Given the description of an element on the screen output the (x, y) to click on. 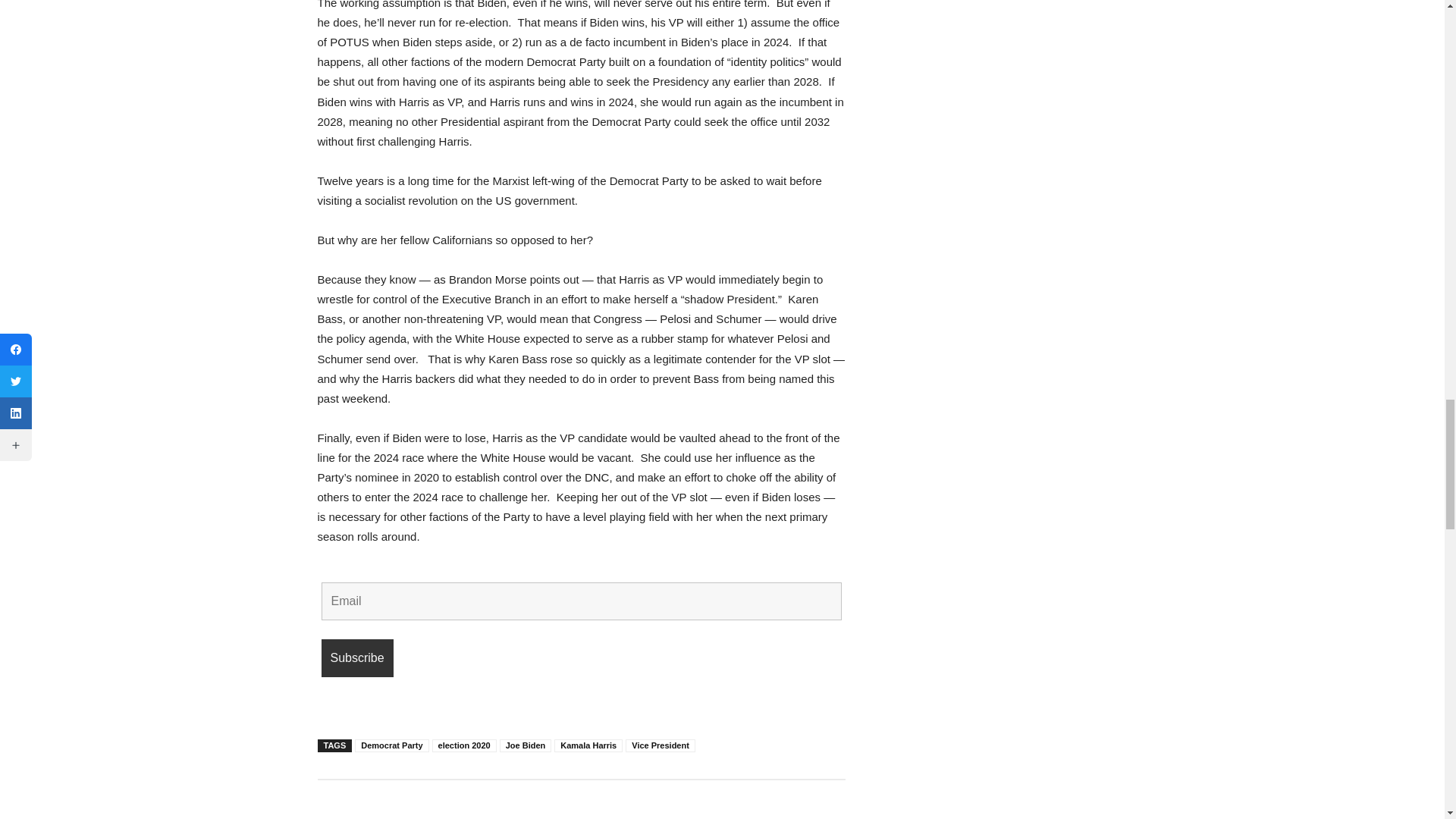
Subscribe (357, 658)
